Given the description of an element on the screen output the (x, y) to click on. 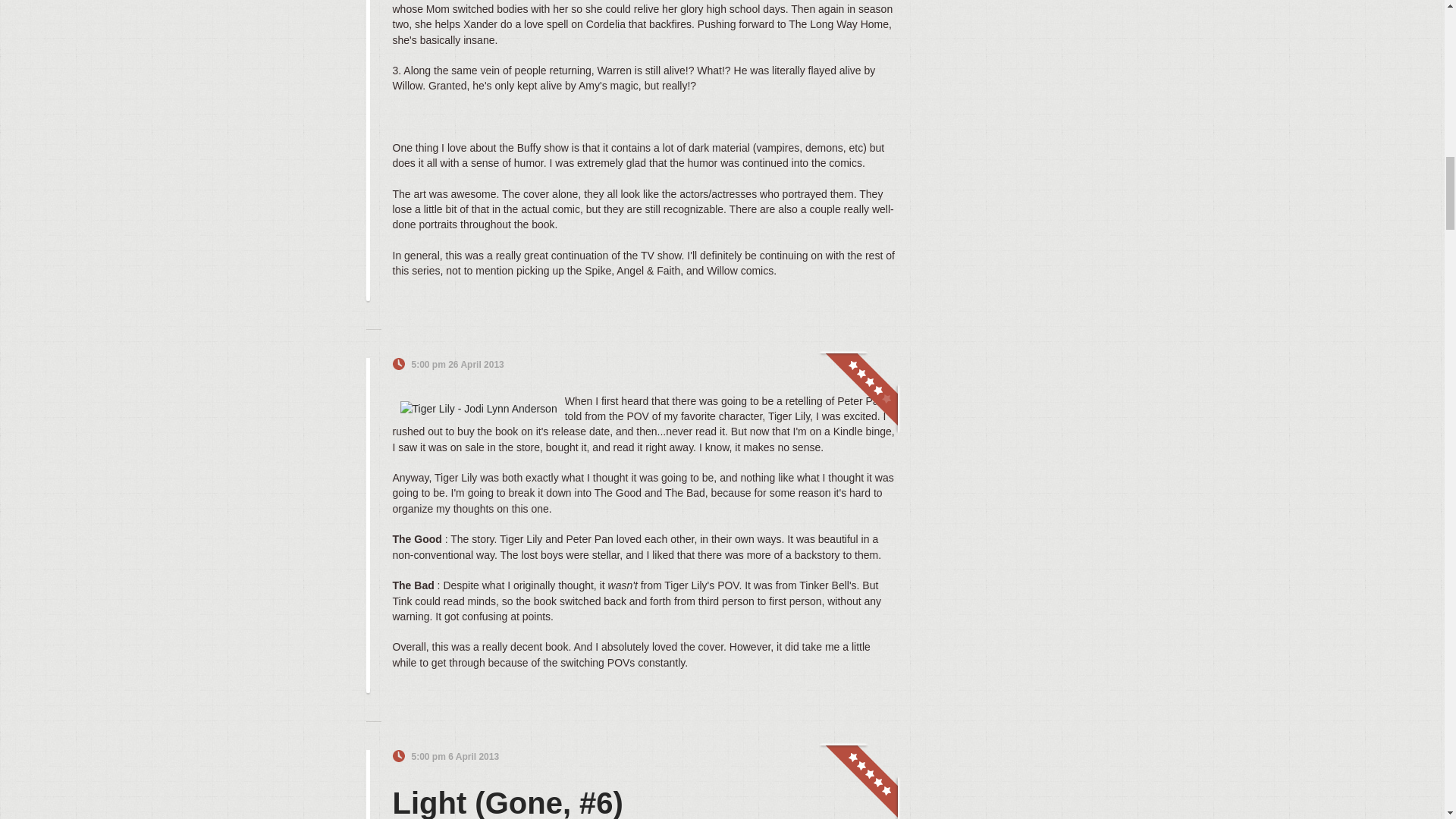
Tweet (849, 756)
5:00 pm 26 April 2013 (456, 364)
Tweet (849, 364)
5:00 pm 6 April 2013 (454, 756)
